Given the description of an element on the screen output the (x, y) to click on. 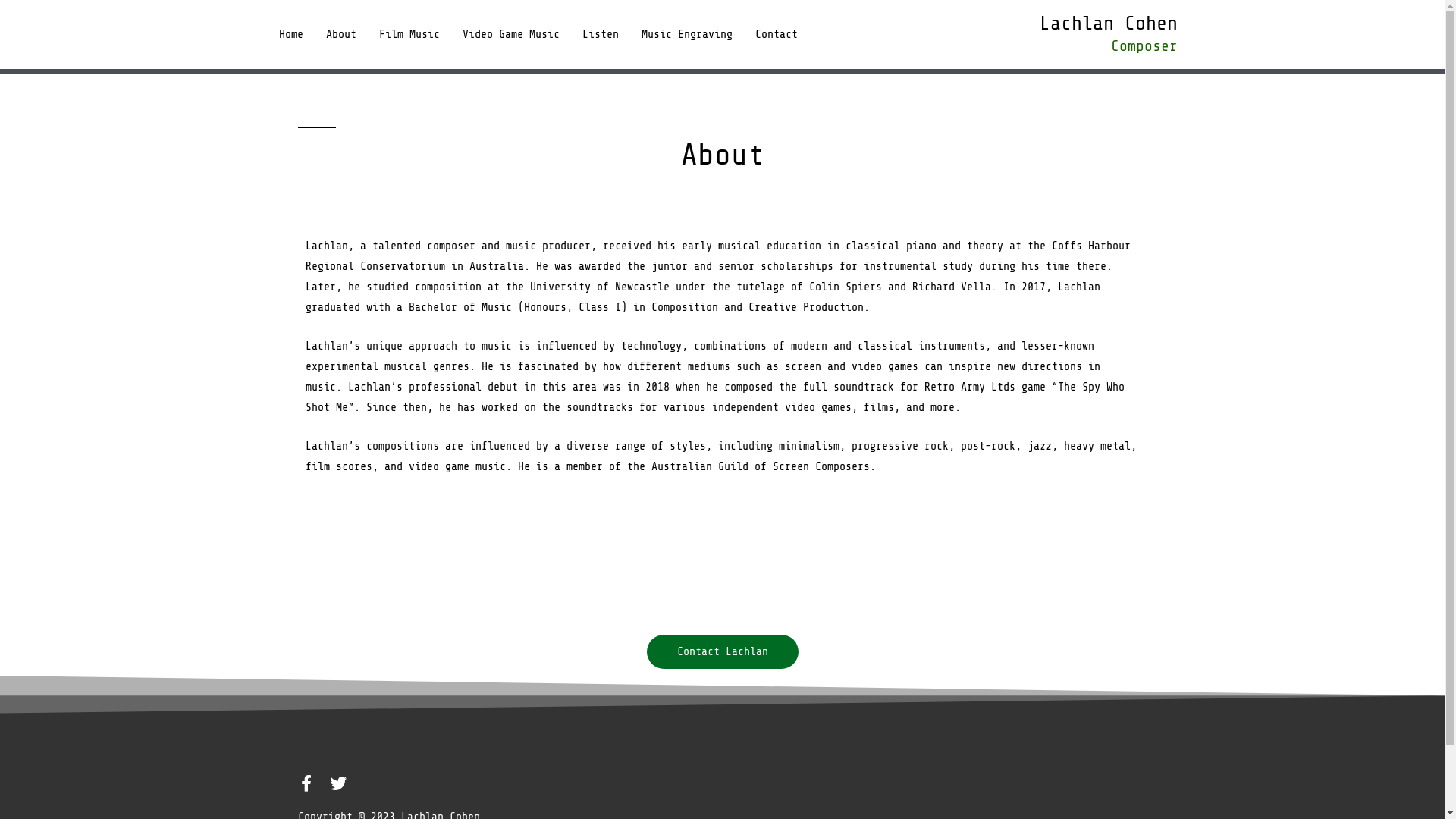
Film Music Element type: text (408, 34)
Video Game Music Element type: text (510, 34)
Home Element type: text (289, 34)
Lachlan Cohen Element type: text (1107, 23)
Music Engraving Element type: text (686, 34)
Listen Element type: text (599, 34)
About Element type: text (340, 34)
Twitter Element type: text (337, 783)
Contact Element type: text (775, 34)
Contact Lachlan Element type: text (721, 651)
Facebook-f Element type: text (305, 783)
